Given the description of an element on the screen output the (x, y) to click on. 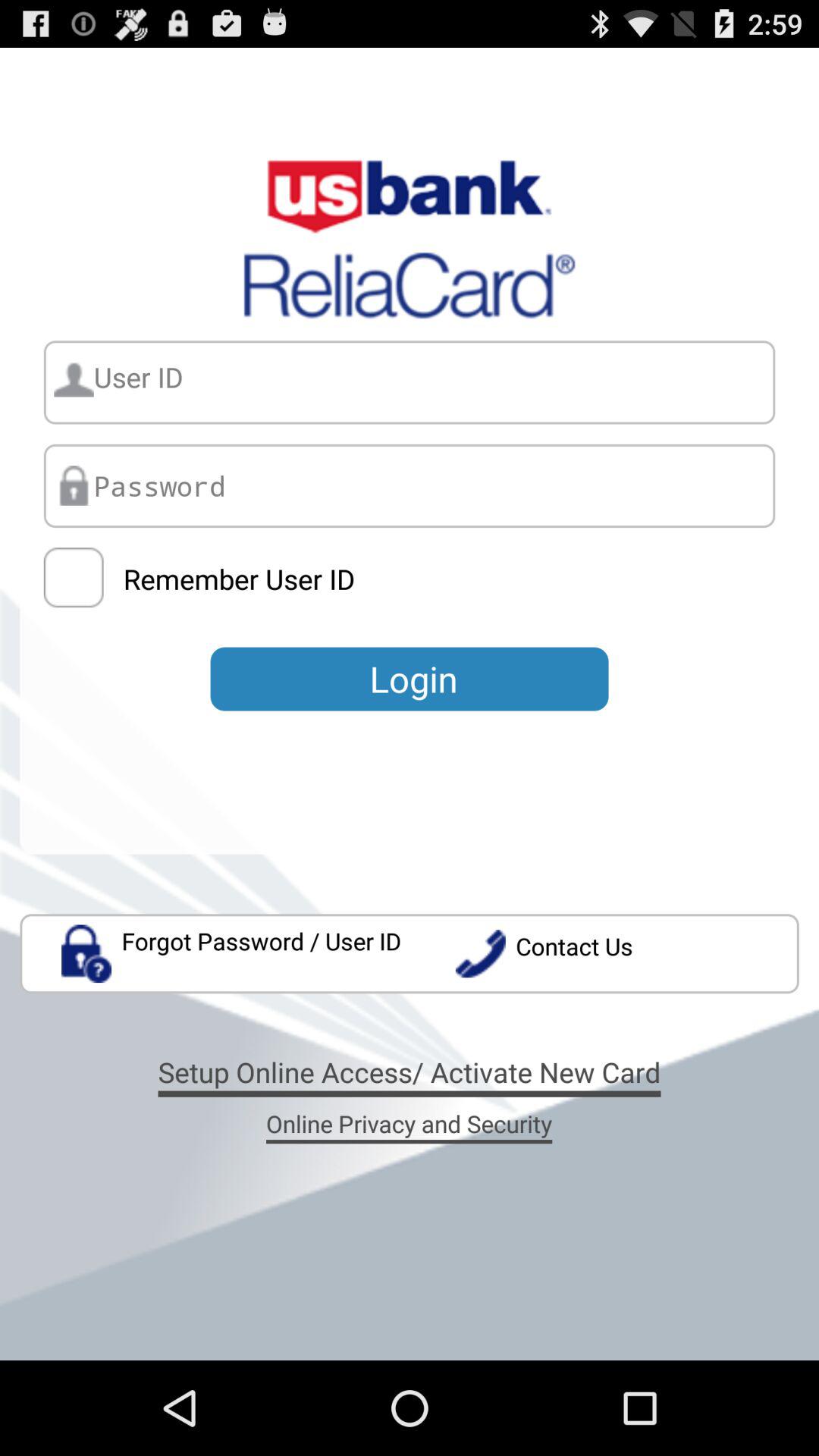
tap the item below login icon (232, 953)
